Given the description of an element on the screen output the (x, y) to click on. 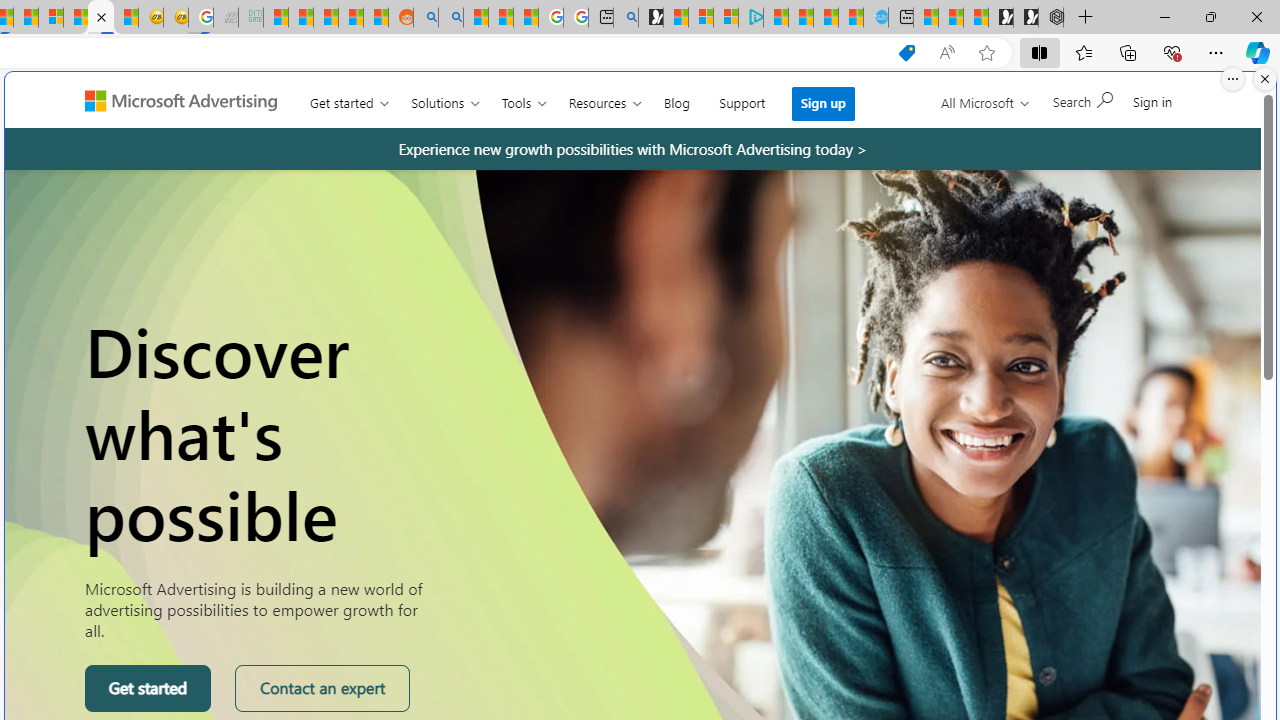
Contact an expert (322, 688)
Support (742, 98)
No, thanks (965, 109)
Microsoft Advertising (189, 99)
More options. (1233, 79)
